Given the description of an element on the screen output the (x, y) to click on. 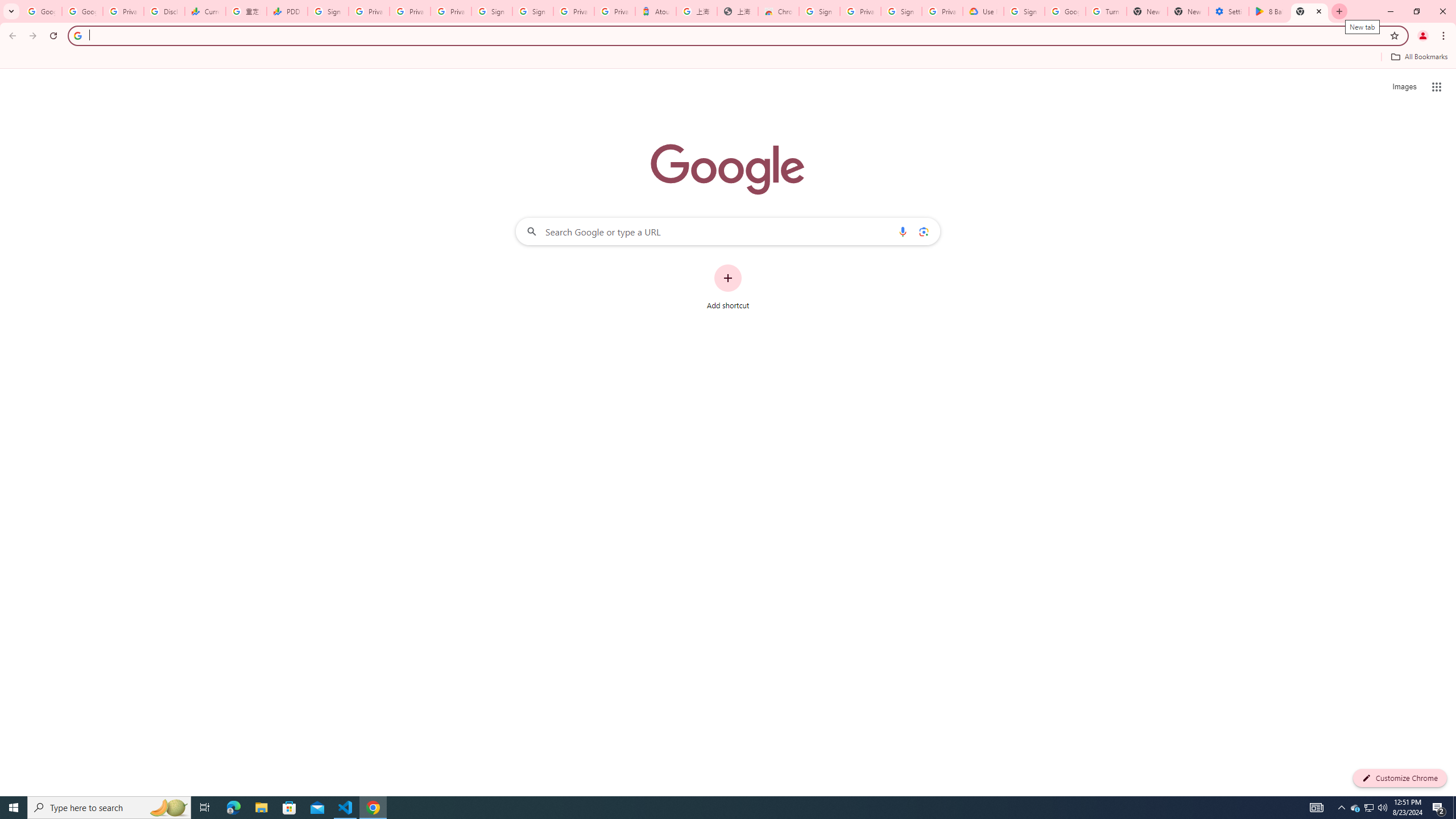
Add shortcut (727, 287)
Currencies - Google Finance (205, 11)
Sign in - Google Accounts (327, 11)
Bookmarks (728, 58)
Search Google or type a URL (727, 230)
